Given the description of an element on the screen output the (x, y) to click on. 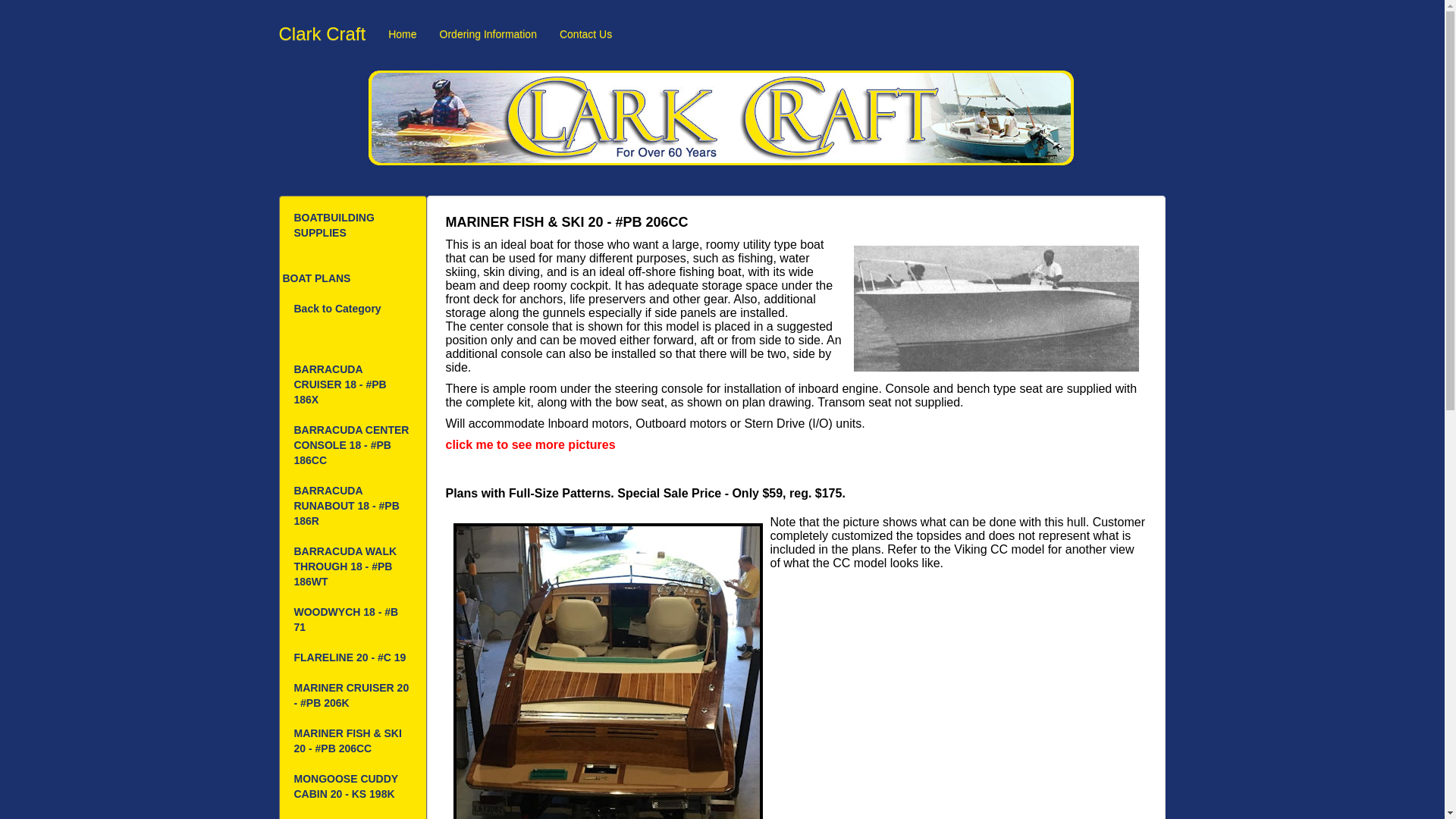
MONGOOSE CUDDY CABIN 20 - KS 198K (353, 786)
Back to Category (353, 309)
Home (402, 34)
Clark Craft (321, 34)
Contact Us (585, 34)
BOAT PLANS (353, 278)
Ordering Information (488, 34)
BOATBUILDING SUPPLIES (353, 225)
